Given the description of an element on the screen output the (x, y) to click on. 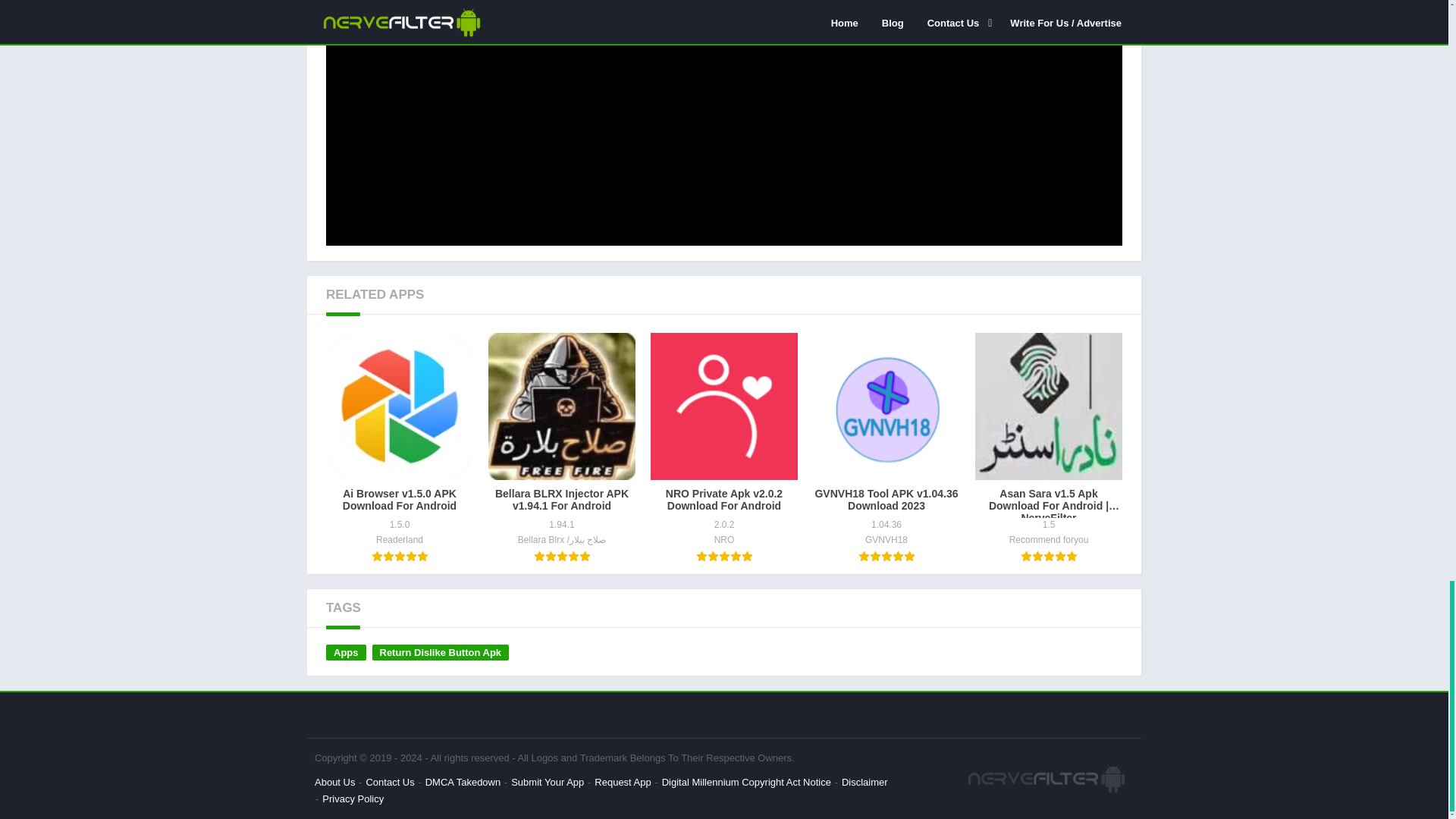
Return Dislike Button Apk (439, 652)
Contact Us (389, 781)
Digital Millennium Copyright Act Notice (746, 781)
Apps (346, 652)
Disclaimer (864, 781)
About Us (334, 781)
DMCA Takedown (462, 781)
Request App (622, 781)
Submit Your App (547, 781)
